Given the description of an element on the screen output the (x, y) to click on. 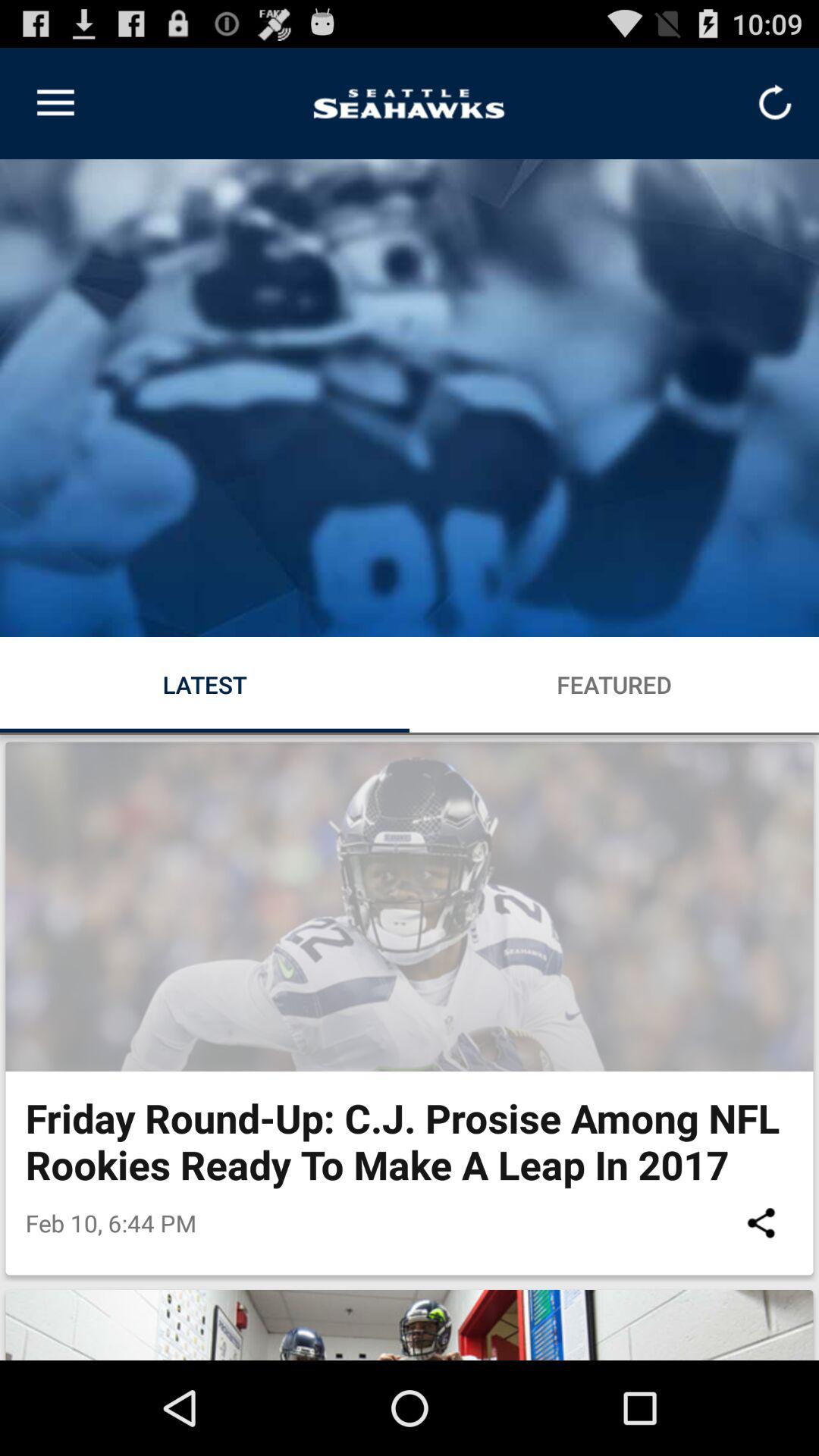
click the item at the bottom right corner (761, 1222)
